Given the description of an element on the screen output the (x, y) to click on. 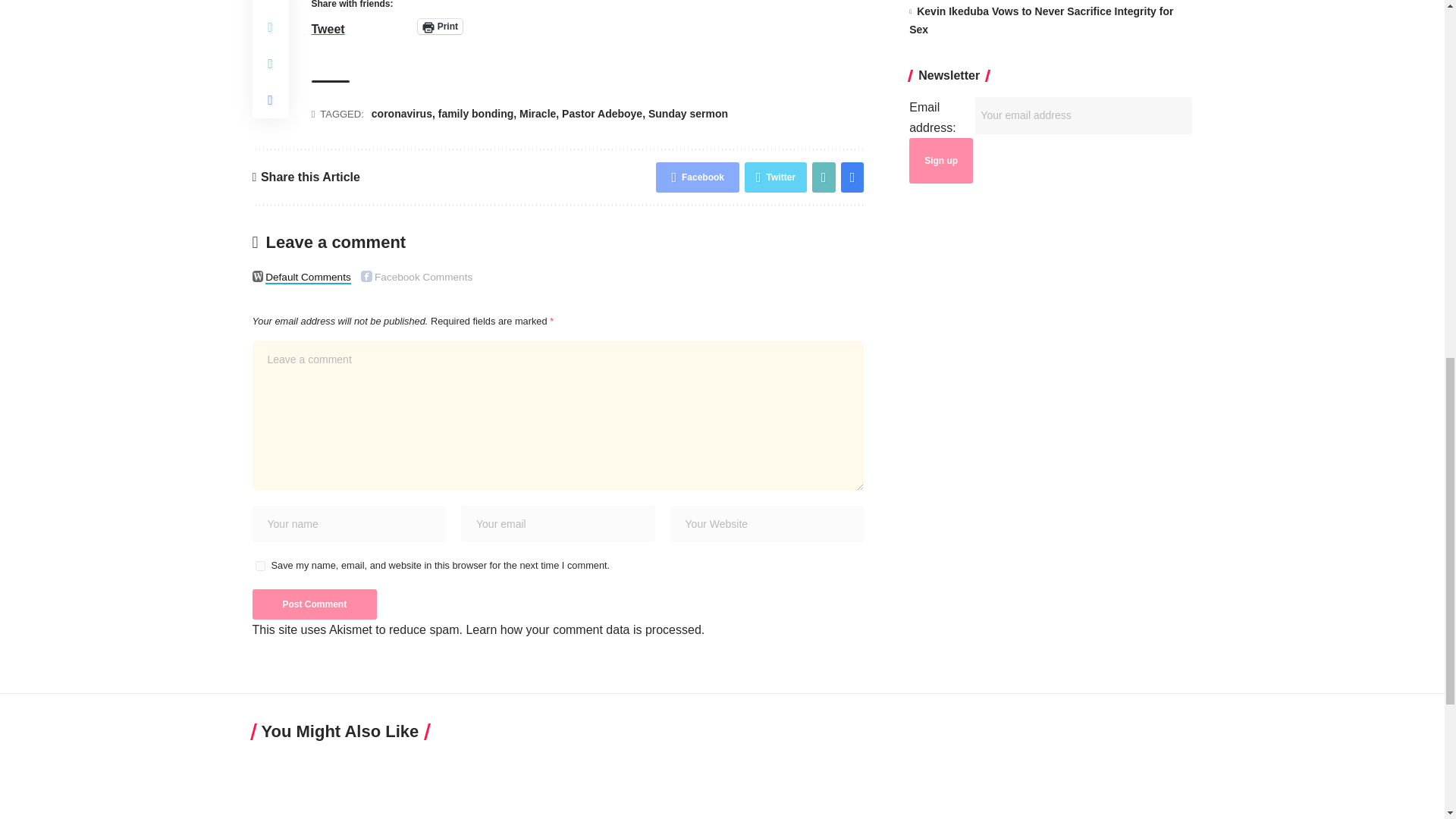
Click to print (440, 26)
Post Comment (314, 603)
Sign up (940, 160)
Facebook Comments (366, 276)
yes (259, 565)
Default Comments (257, 276)
What Aiyedatiwa told Ondo Muslim leaders (841, 787)
